Given the description of an element on the screen output the (x, y) to click on. 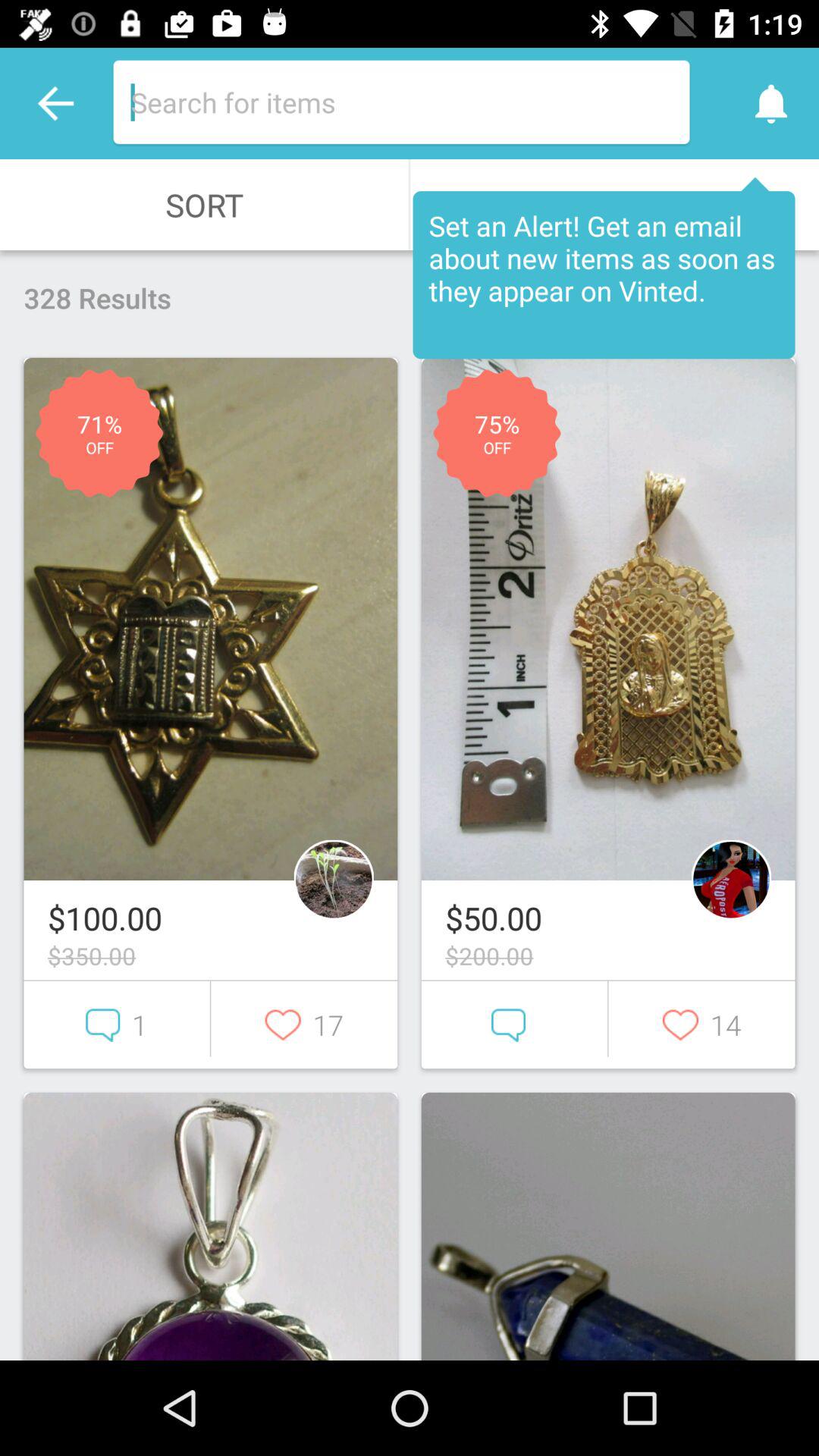
click on the love symbol which is to the left side of the text 17 (303, 1024)
click on fourth image from top (608, 1226)
click on right side corner box (608, 1226)
